Given the description of an element on the screen output the (x, y) to click on. 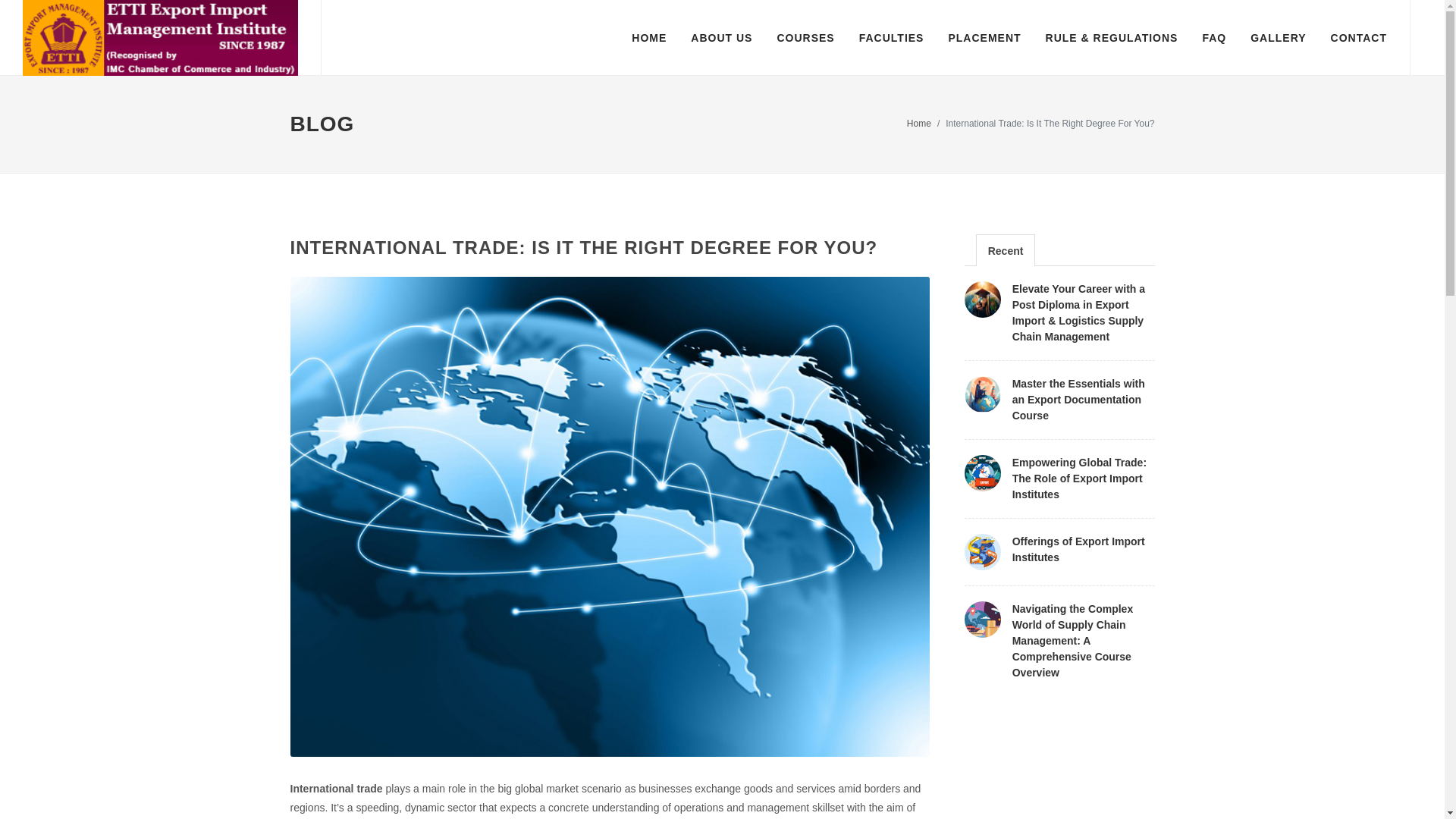
Recent (1005, 250)
PLACEMENT (984, 38)
CONTACT (1358, 38)
FACULTIES (891, 38)
GALLERY (1278, 38)
Master the Essentials with an Export Documentation Course (1077, 399)
COURSES (805, 38)
ABOUT US (720, 38)
Offerings of Export Import Institutes (1077, 549)
